Given the description of an element on the screen output the (x, y) to click on. 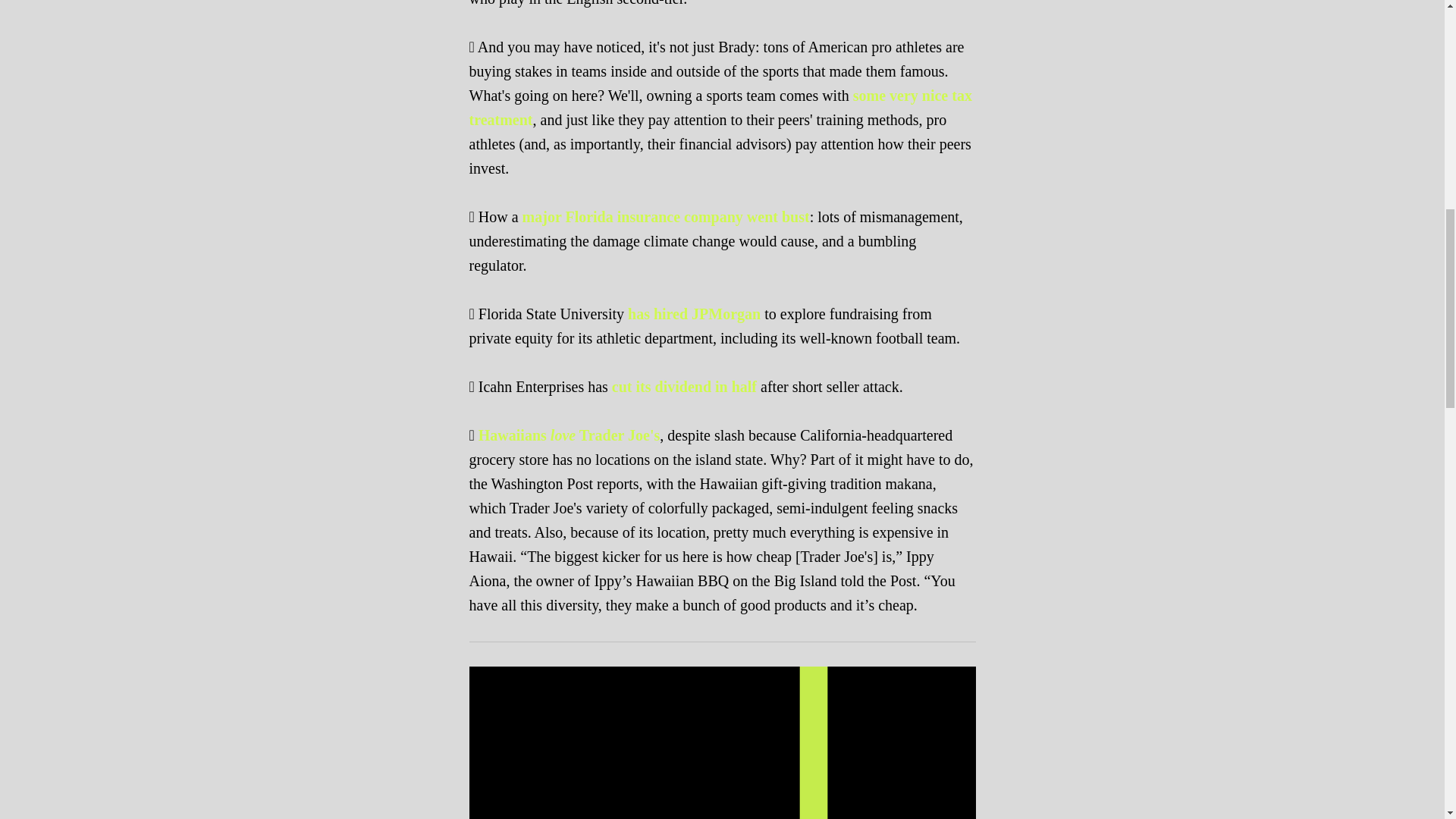
some very nice tax treatment (719, 106)
cut its dividend in half (684, 386)
has hired JPMorgan (693, 313)
Hawaiians love Trader Joe's (569, 434)
major Florida insurance company went bust (665, 216)
